Given the description of an element on the screen output the (x, y) to click on. 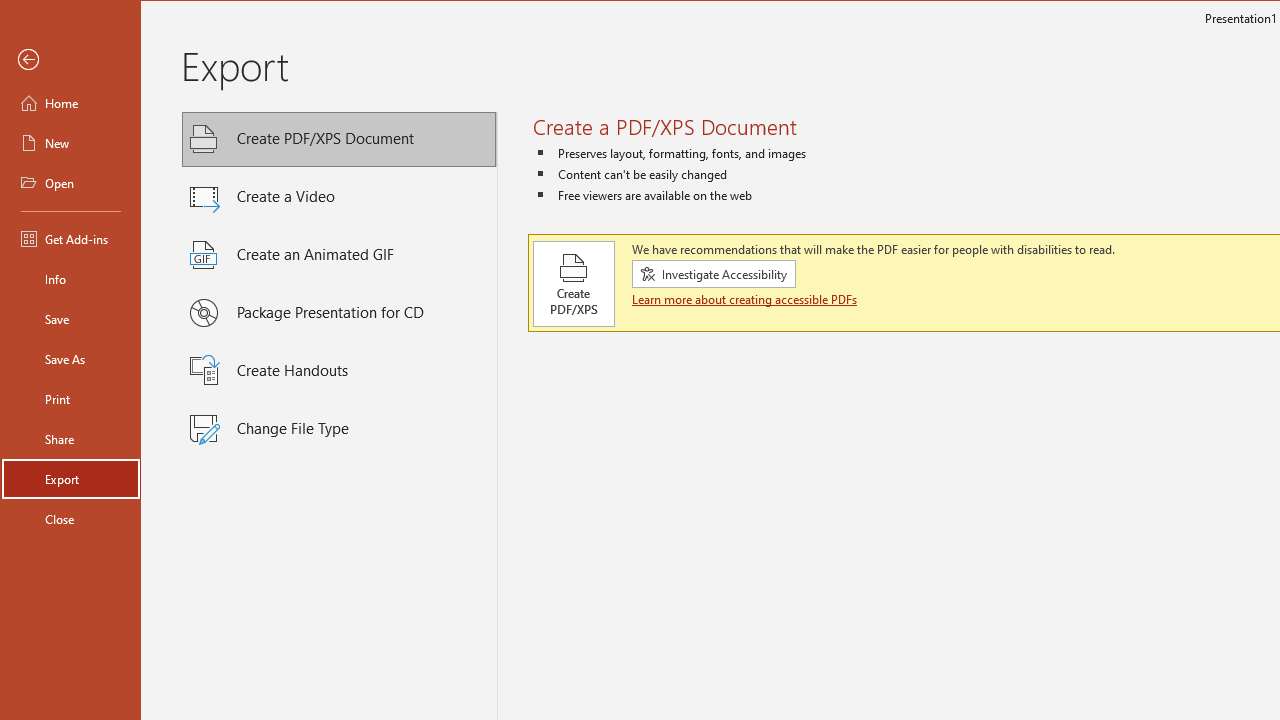
New (70, 142)
Create a Video (339, 196)
Create PDF/XPS (573, 283)
Get Add-ins (70, 238)
Back (70, 60)
Change File Type (339, 429)
